Given the description of an element on the screen output the (x, y) to click on. 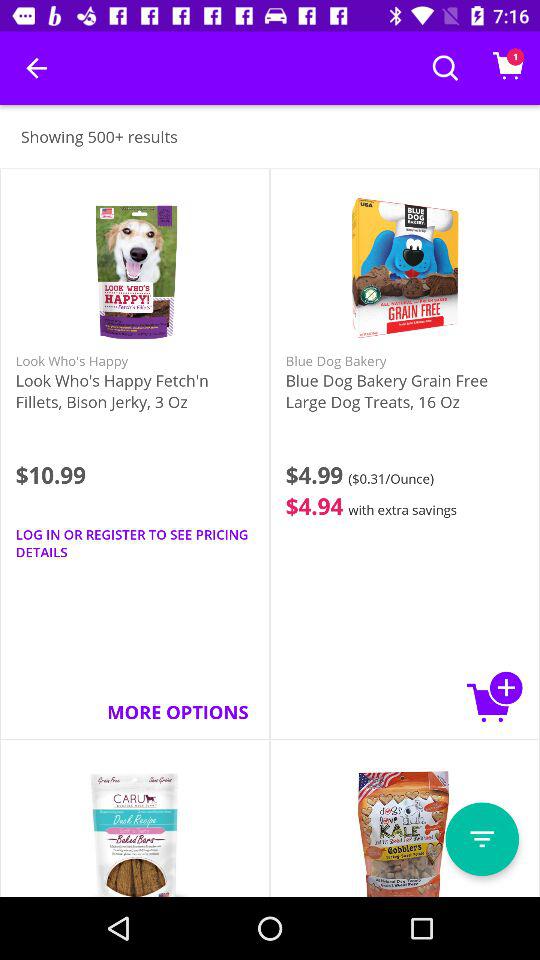
press log in or item (134, 543)
